Given the description of an element on the screen output the (x, y) to click on. 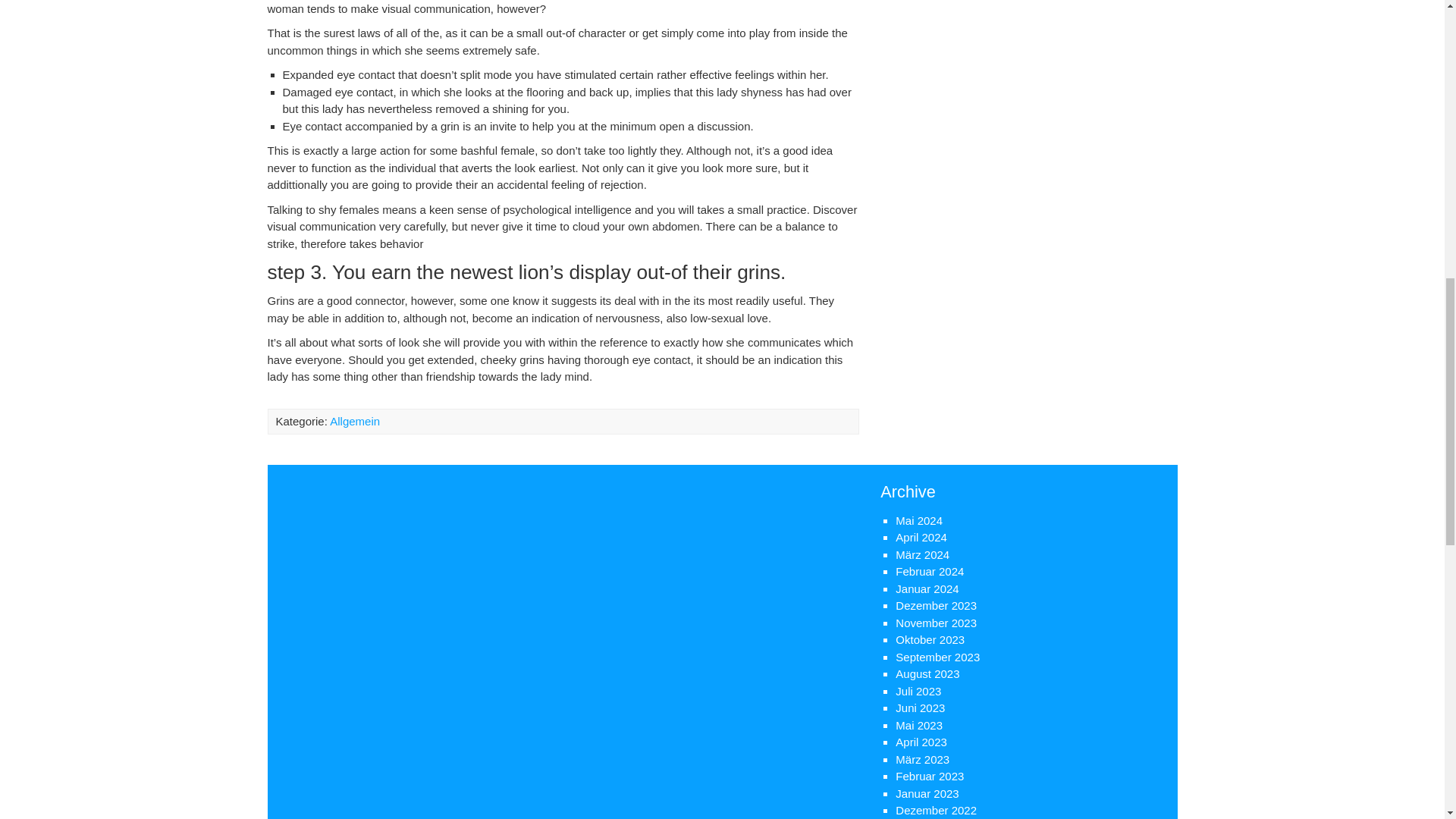
Dezember 2023 (935, 604)
Mai 2024 (918, 520)
Januar 2024 (926, 588)
Oktober 2023 (929, 639)
November 2023 (935, 622)
Juli 2023 (917, 690)
Februar 2024 (929, 571)
April 2023 (921, 741)
August 2023 (927, 673)
Februar 2023 (929, 775)
